Given the description of an element on the screen output the (x, y) to click on. 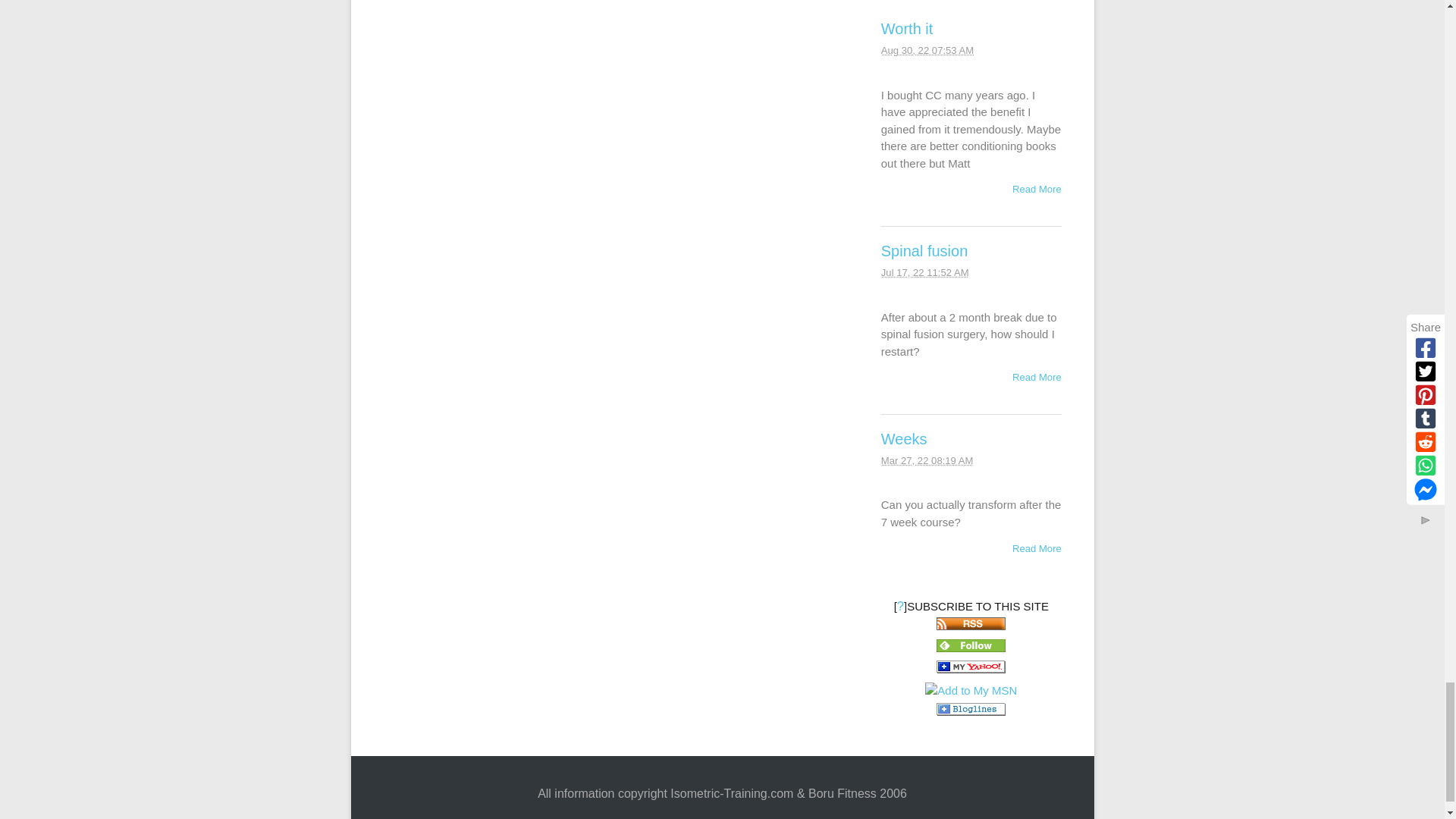
2022-07-17T11:52:36-0400 (924, 272)
2022-03-27T08:19:39-0400 (927, 460)
2022-08-30T07:53:59-0400 (927, 50)
